Given the description of an element on the screen output the (x, y) to click on. 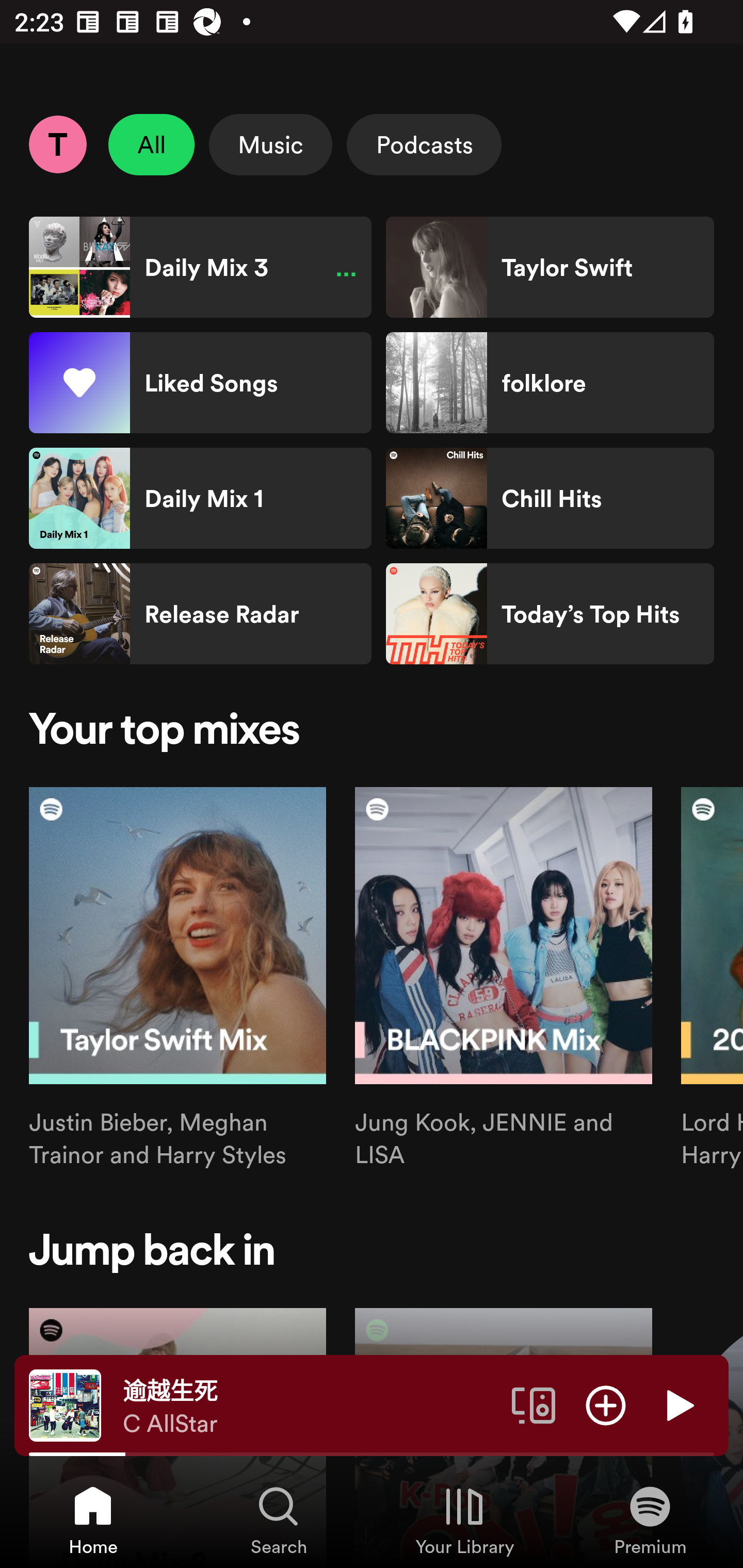
Profile (57, 144)
All Unselect All (151, 144)
Music Select Music (270, 144)
Podcasts Select Podcasts (423, 144)
Daily Mix 3 Shortcut Daily Mix 3 Paused (199, 267)
Taylor Swift Shortcut Taylor Swift (549, 267)
Liked Songs Shortcut Liked Songs (199, 382)
folklore Shortcut folklore (549, 382)
Daily Mix 1 Shortcut Daily Mix 1 (199, 498)
Chill Hits Shortcut Chill Hits (549, 498)
Release Radar Shortcut Release Radar (199, 613)
Today’s Top Hits Shortcut Today’s Top Hits (549, 613)
逾越生死 C AllStar (309, 1405)
The cover art of the currently playing track (64, 1404)
Connect to a device. Opens the devices menu (533, 1404)
Add item (605, 1404)
Play (677, 1404)
Home, Tab 1 of 4 Home Home (92, 1519)
Search, Tab 2 of 4 Search Search (278, 1519)
Your Library, Tab 3 of 4 Your Library Your Library (464, 1519)
Premium, Tab 4 of 4 Premium Premium (650, 1519)
